Given the description of an element on the screen output the (x, y) to click on. 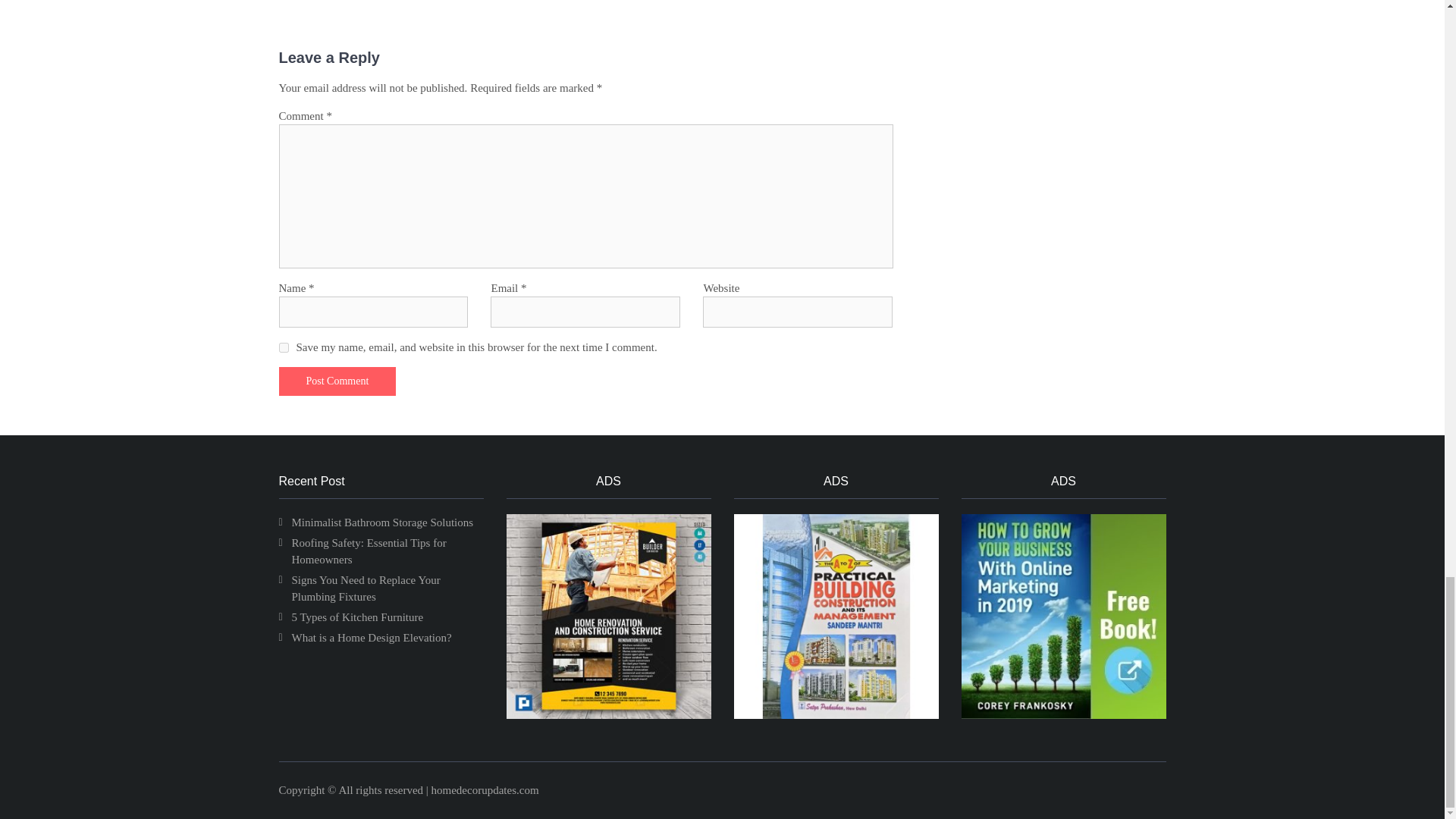
yes (283, 347)
Post Comment (337, 380)
Post Comment (337, 380)
